Given the description of an element on the screen output the (x, y) to click on. 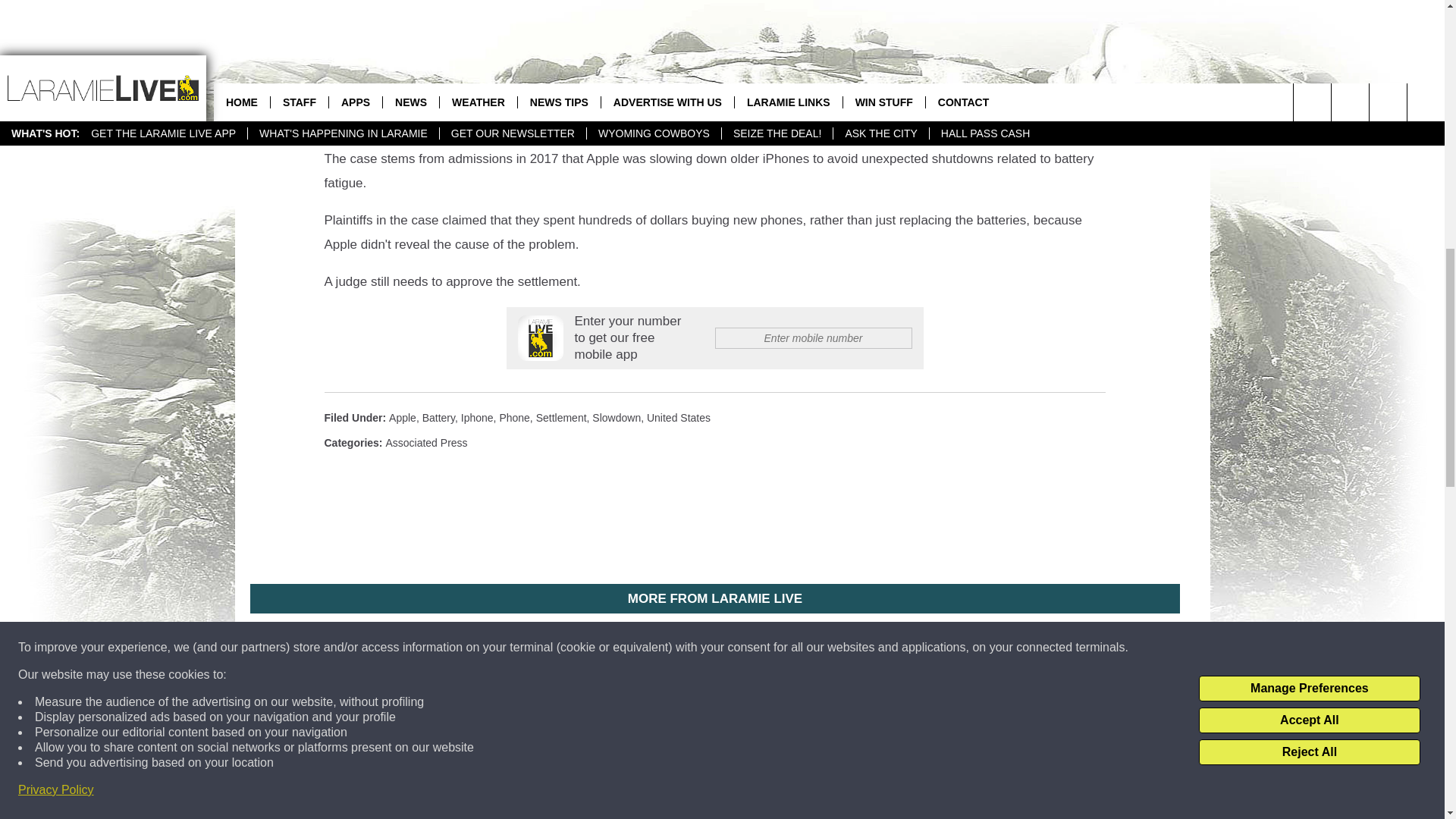
Share on Facebook (517, 12)
Share on Twitter (912, 12)
